Given the description of an element on the screen output the (x, y) to click on. 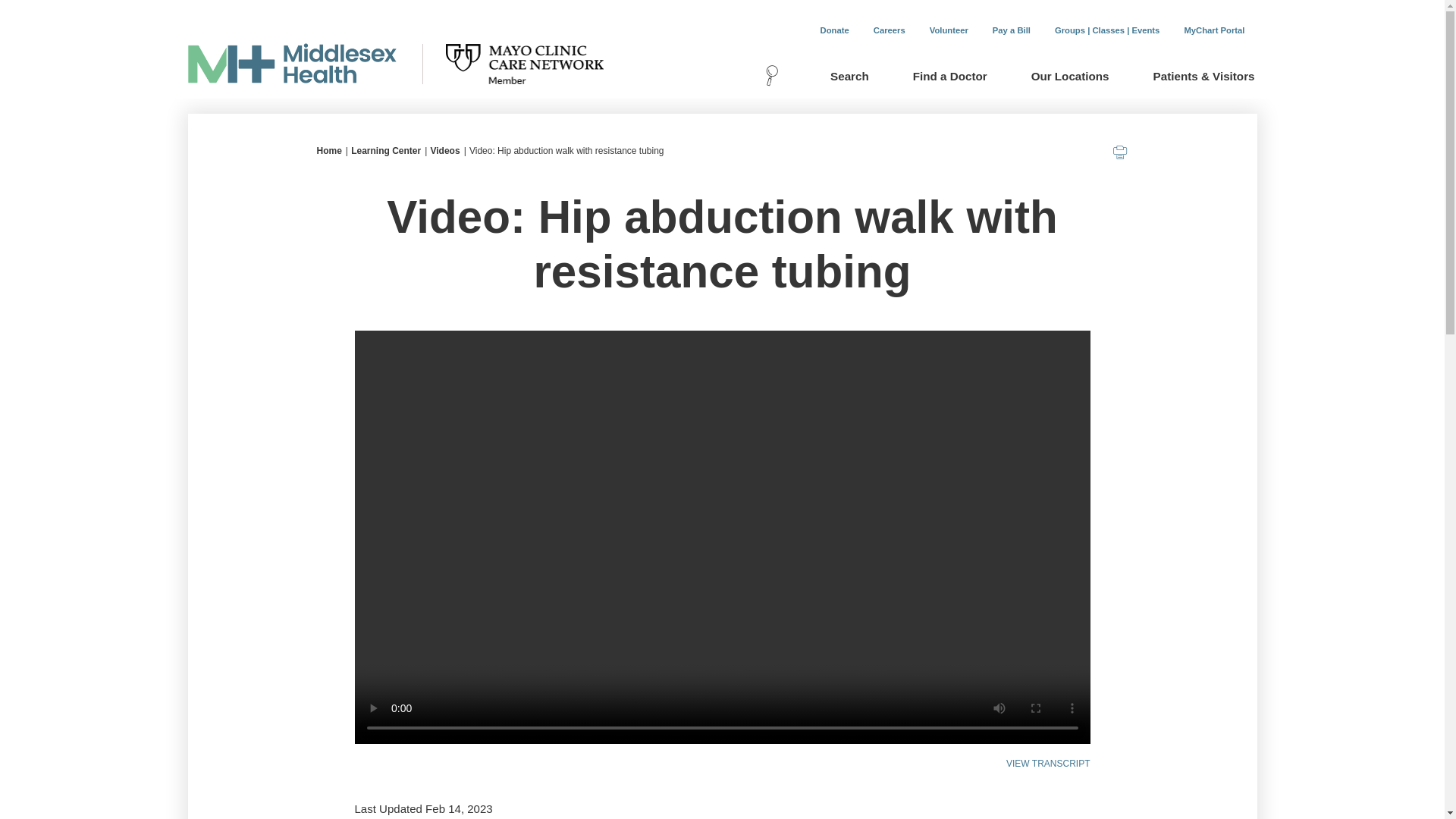
Careers (889, 30)
Find a Doctor (950, 77)
Donate (834, 30)
Our Locations (1070, 77)
Search (840, 77)
Pay a Bill (1010, 30)
MyChart Portal (1214, 30)
Volunteer (948, 30)
